Given the description of an element on the screen output the (x, y) to click on. 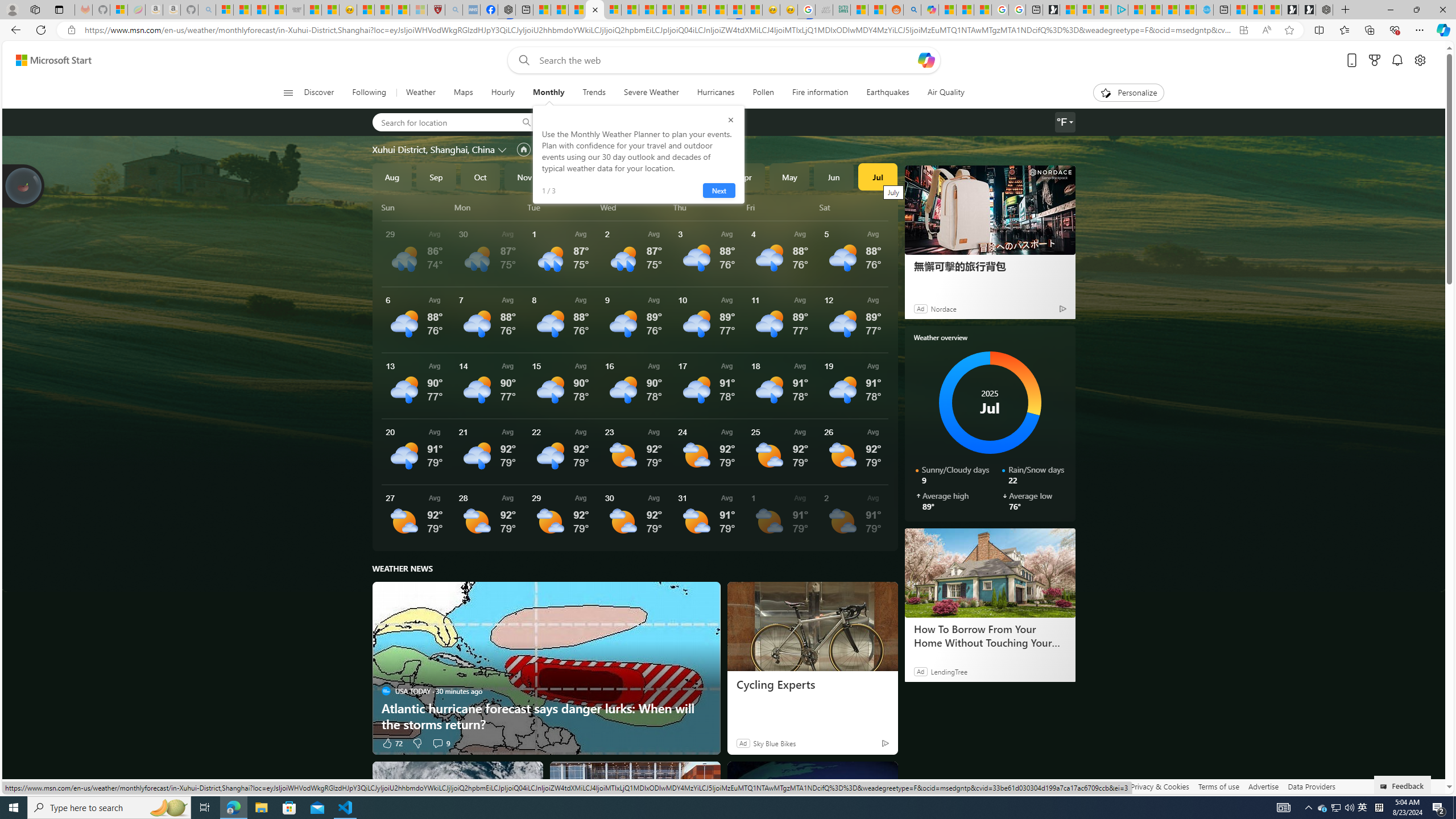
Terms of use (1218, 786)
Maps (462, 92)
May (789, 176)
Consumer Health Privacy (1080, 785)
Hurricanes (715, 92)
12 Popular Science Lies that Must be Corrected - Sleeping (418, 9)
Fire information (820, 92)
